Given the description of an element on the screen output the (x, y) to click on. 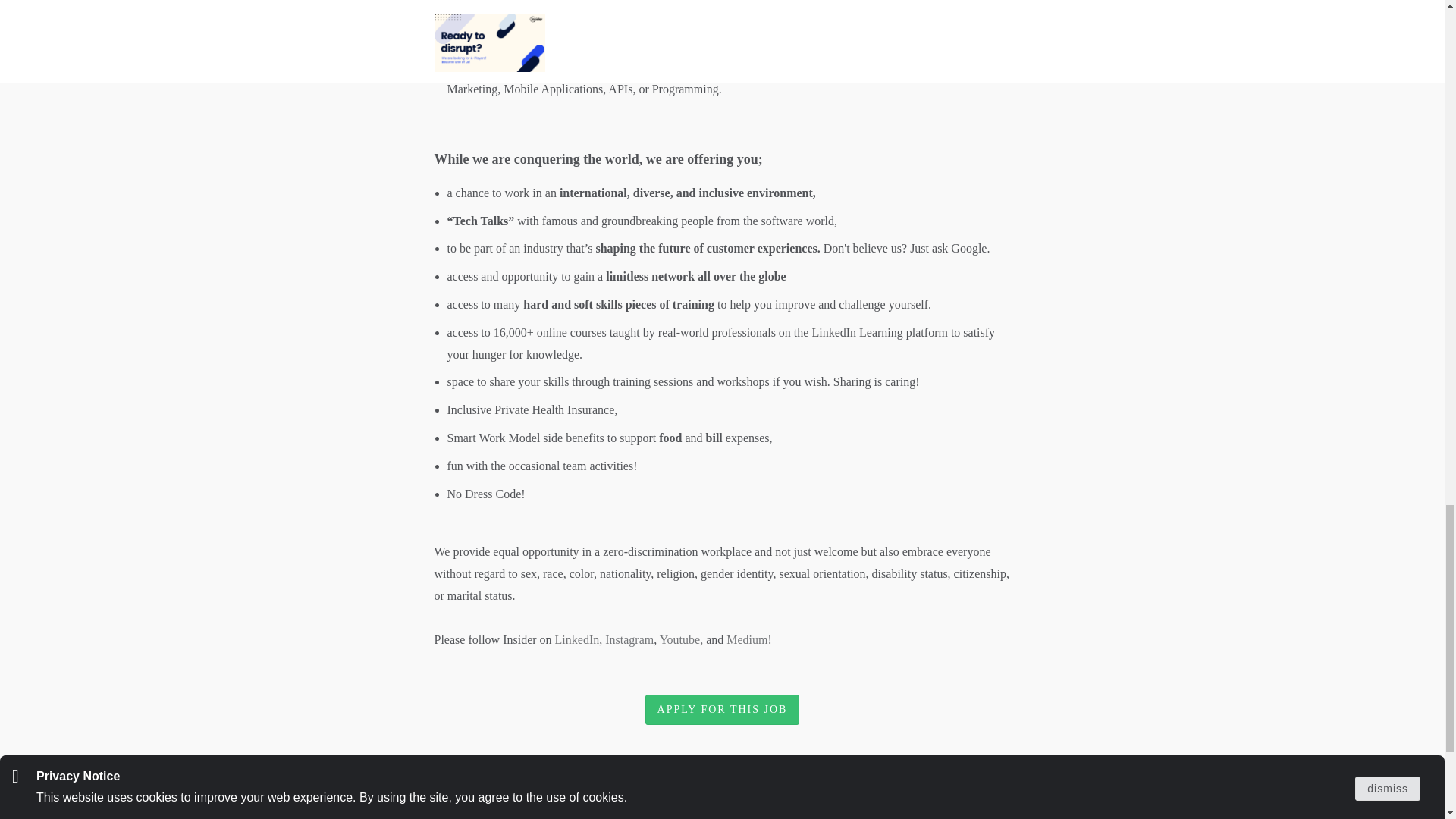
Instagram (629, 639)
APPLY FOR THIS JOB (722, 709)
Medium (746, 639)
Youtube, (681, 639)
LinkedIn (576, 639)
